Given the description of an element on the screen output the (x, y) to click on. 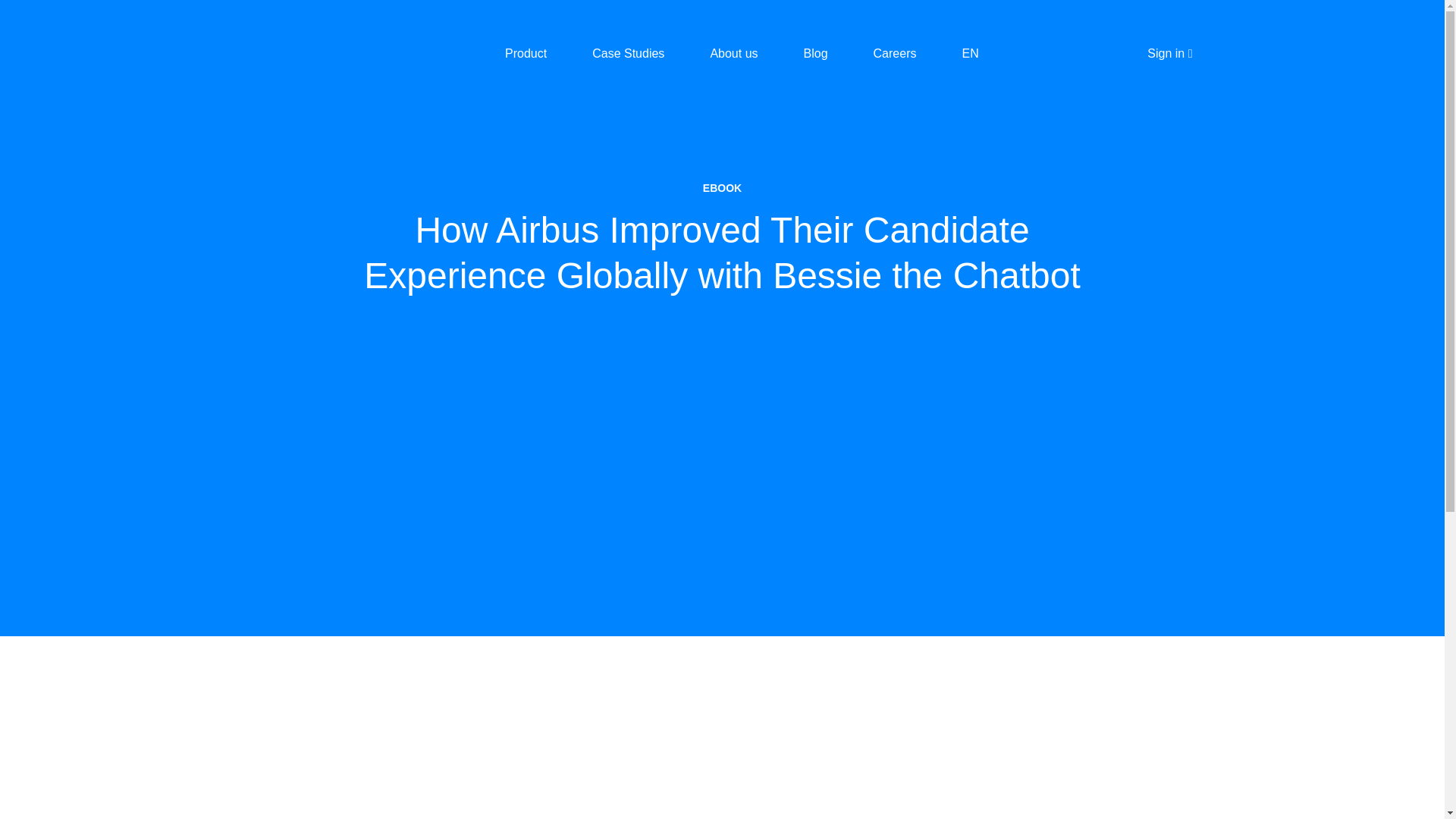
About us (733, 53)
Blog (815, 53)
Home (293, 53)
Sign in (1169, 53)
Product (526, 53)
Careers (895, 53)
Case Studies (627, 53)
